Given the description of an element on the screen output the (x, y) to click on. 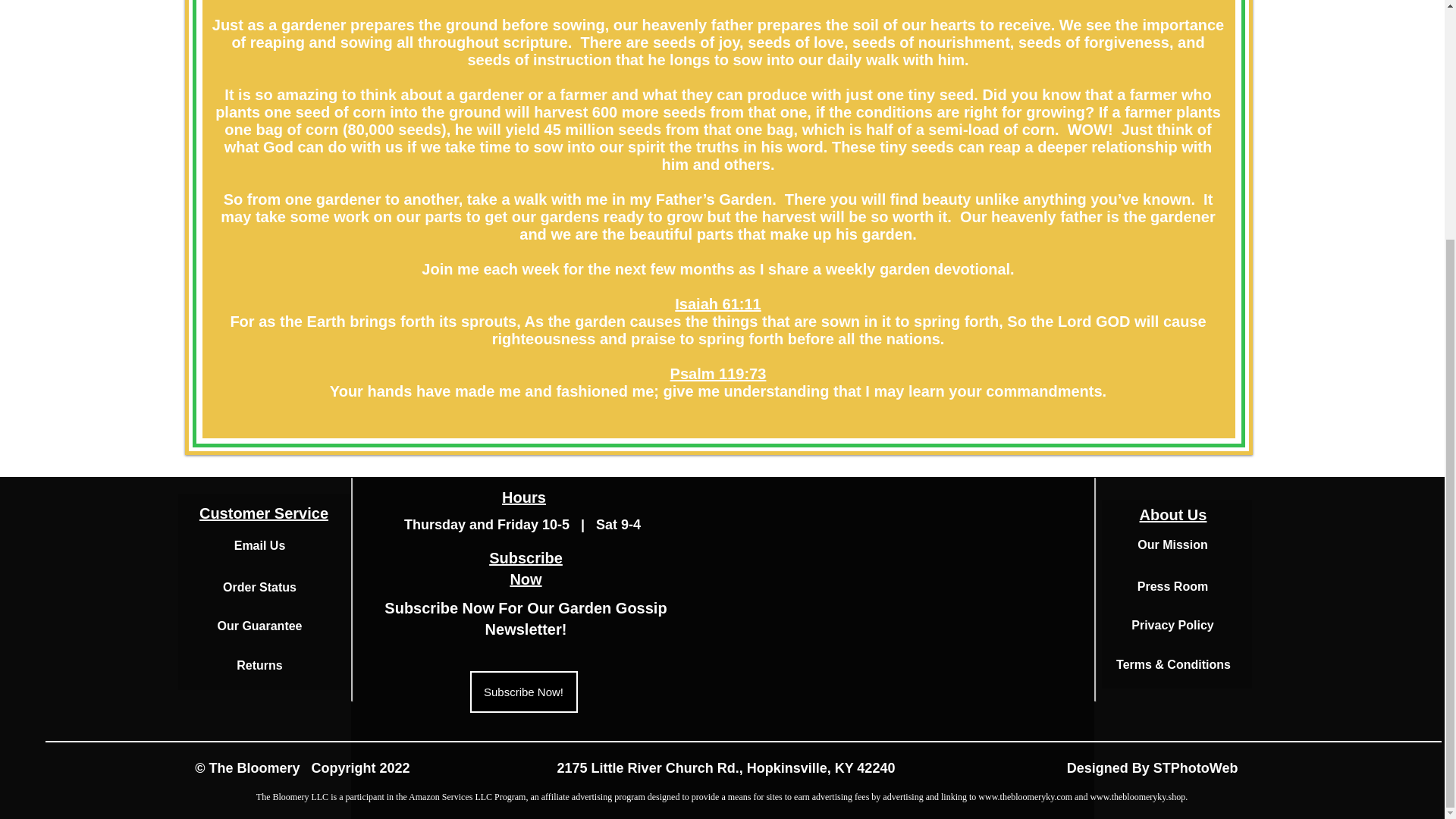
Our Guarantee (258, 625)
www.thebloomeryky.shop (1137, 796)
Our Mission (1172, 544)
www.thebloomeryky.com (1024, 796)
Email Us (259, 545)
Returns (258, 665)
Subscribe Now! (524, 691)
Press Room (525, 618)
Order Status (1172, 585)
